Given the description of an element on the screen output the (x, y) to click on. 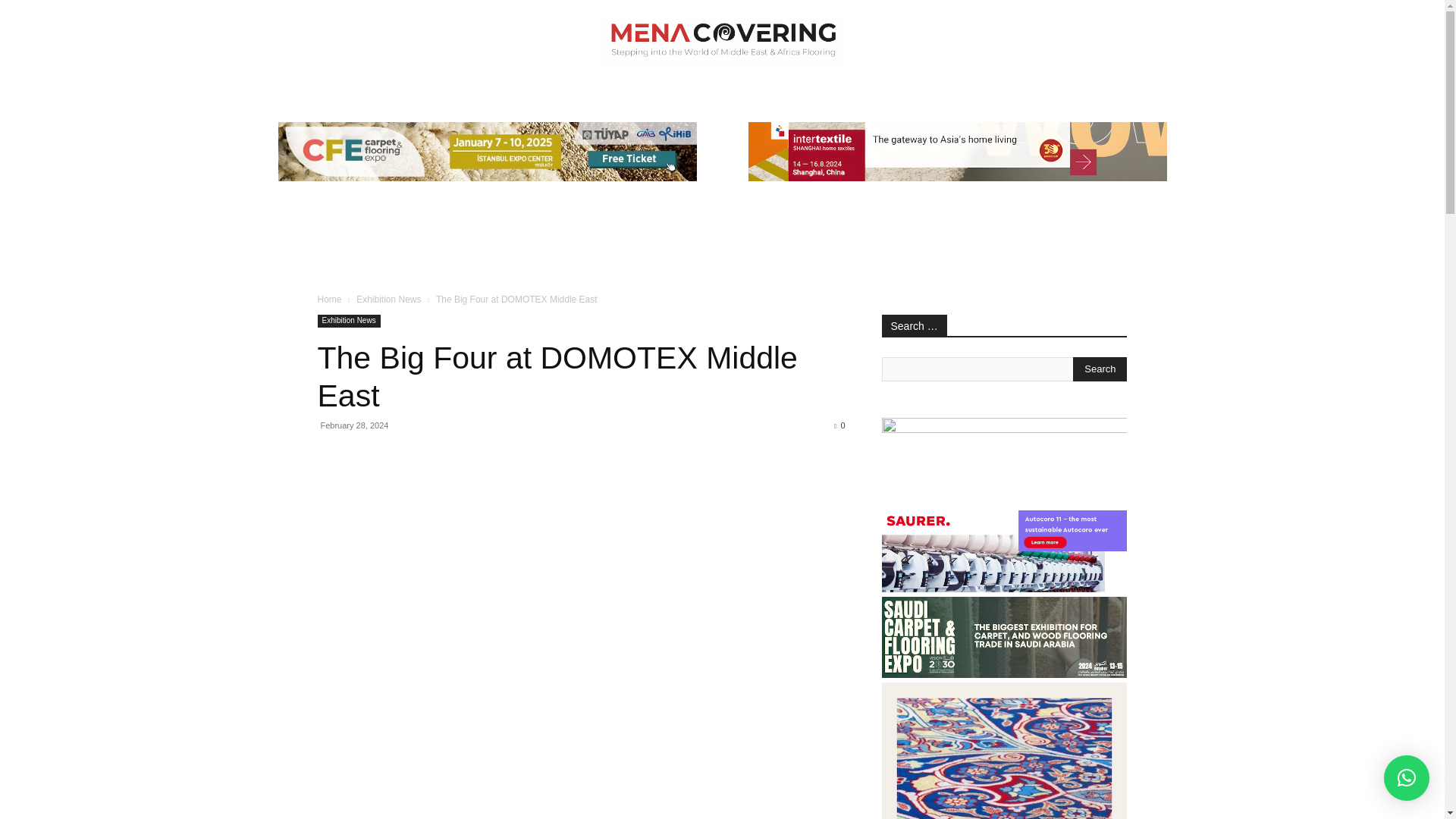
0 (839, 424)
Exhibition News (388, 299)
View all posts in Exhibition News (388, 299)
Exhibition News (348, 320)
Search (1099, 369)
Home (328, 299)
